Given the description of an element on the screen output the (x, y) to click on. 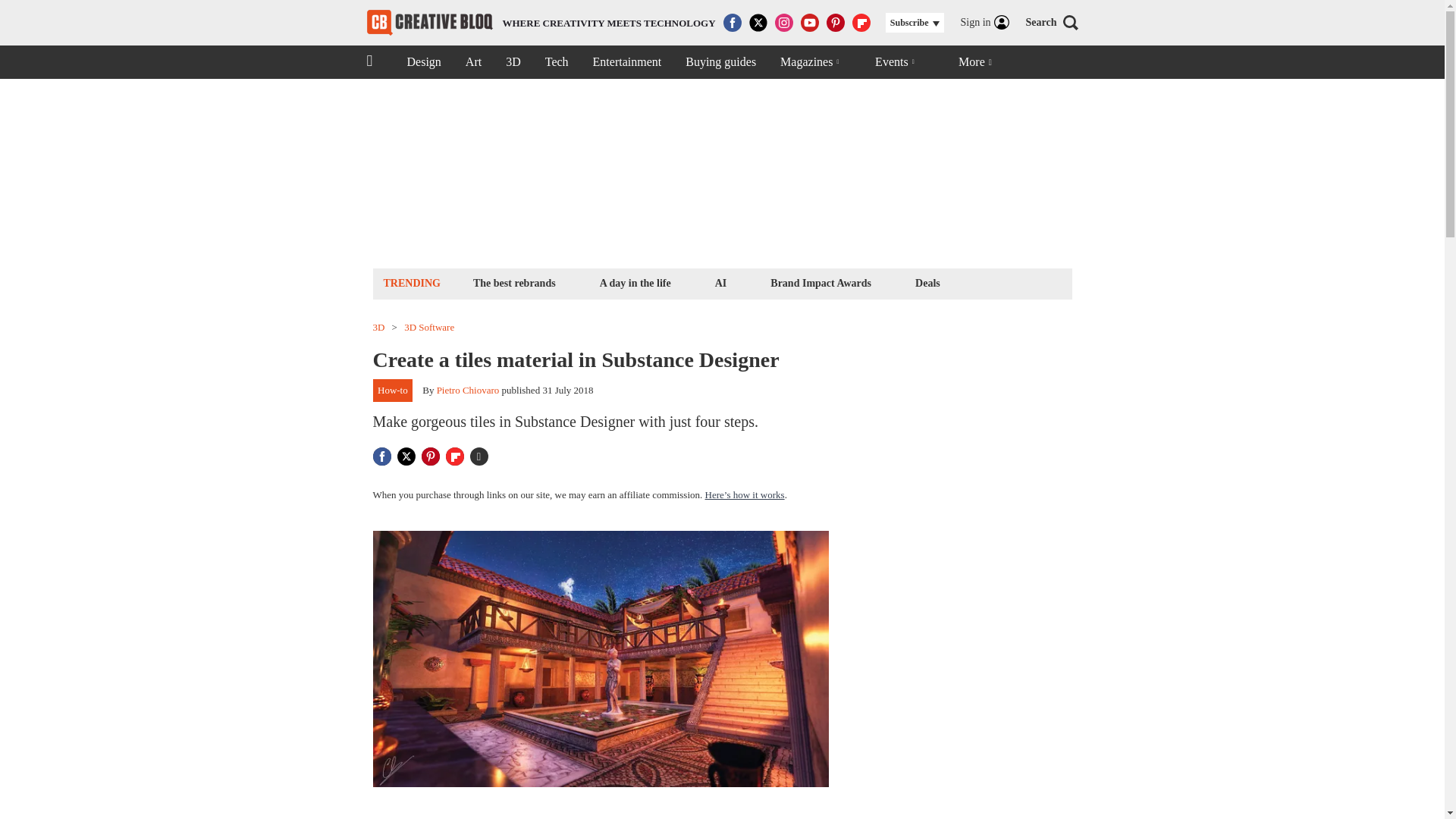
3D Software (429, 327)
Brand Impact Awards (820, 282)
Pietro Chiovaro (467, 389)
AI (721, 282)
Deals (927, 282)
A day in the life (635, 282)
Entertainment (627, 61)
Tech (556, 61)
3D (512, 61)
Design (423, 61)
